Given the description of an element on the screen output the (x, y) to click on. 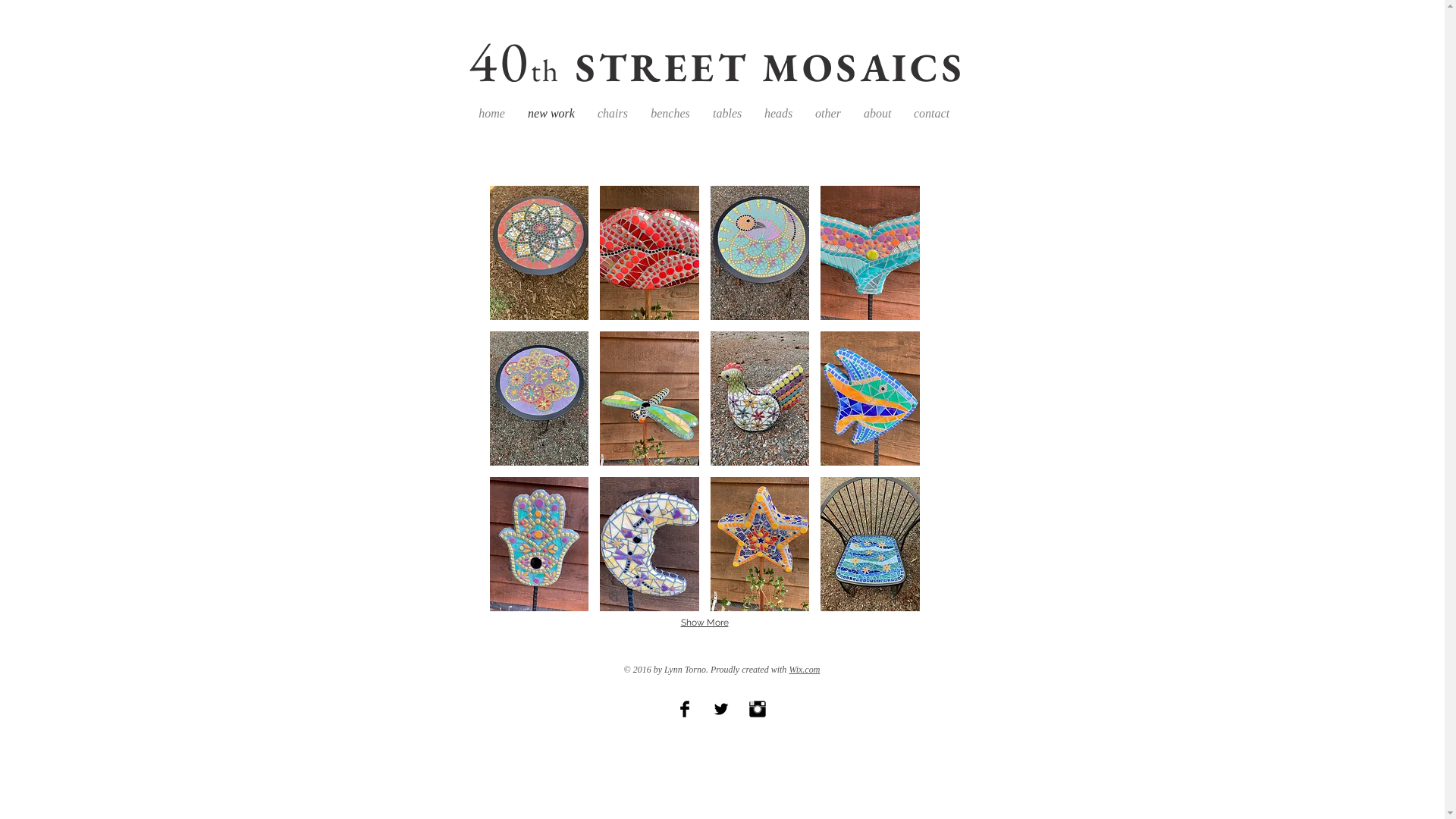
chairs Element type: text (612, 112)
tables Element type: text (727, 112)
benches Element type: text (670, 112)
new work Element type: text (551, 112)
th Element type: text (544, 70)
 40 Element type: text (720, 59)
Wix.com Element type: text (803, 669)
STREET MOSAICS Element type: text (770, 66)
  Element type: text (981, 59)
heads Element type: text (778, 112)
home Element type: text (491, 112)
Show More Element type: text (704, 622)
  Element type: text (566, 66)
contact Element type: text (931, 112)
about Element type: text (877, 112)
other Element type: text (827, 112)
